Given the description of an element on the screen output the (x, y) to click on. 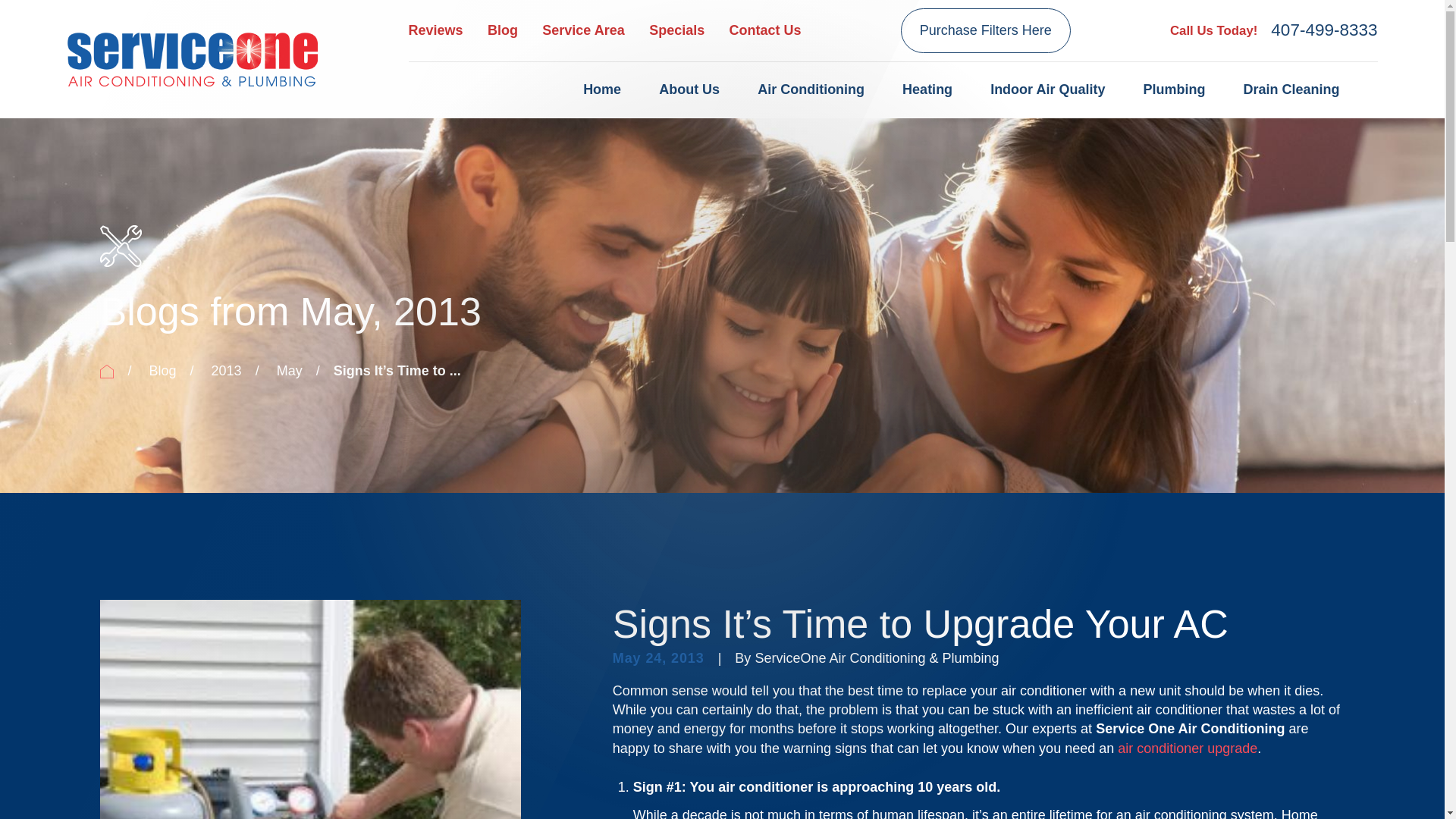
Blog (502, 29)
407-499-8333 (1324, 30)
Contact Us (765, 29)
Service Area (582, 29)
Go Home (106, 371)
Air Conditioning Upgrade (1187, 748)
About Us (689, 90)
Home (602, 90)
Specials (676, 29)
Home (191, 58)
